Given the description of an element on the screen output the (x, y) to click on. 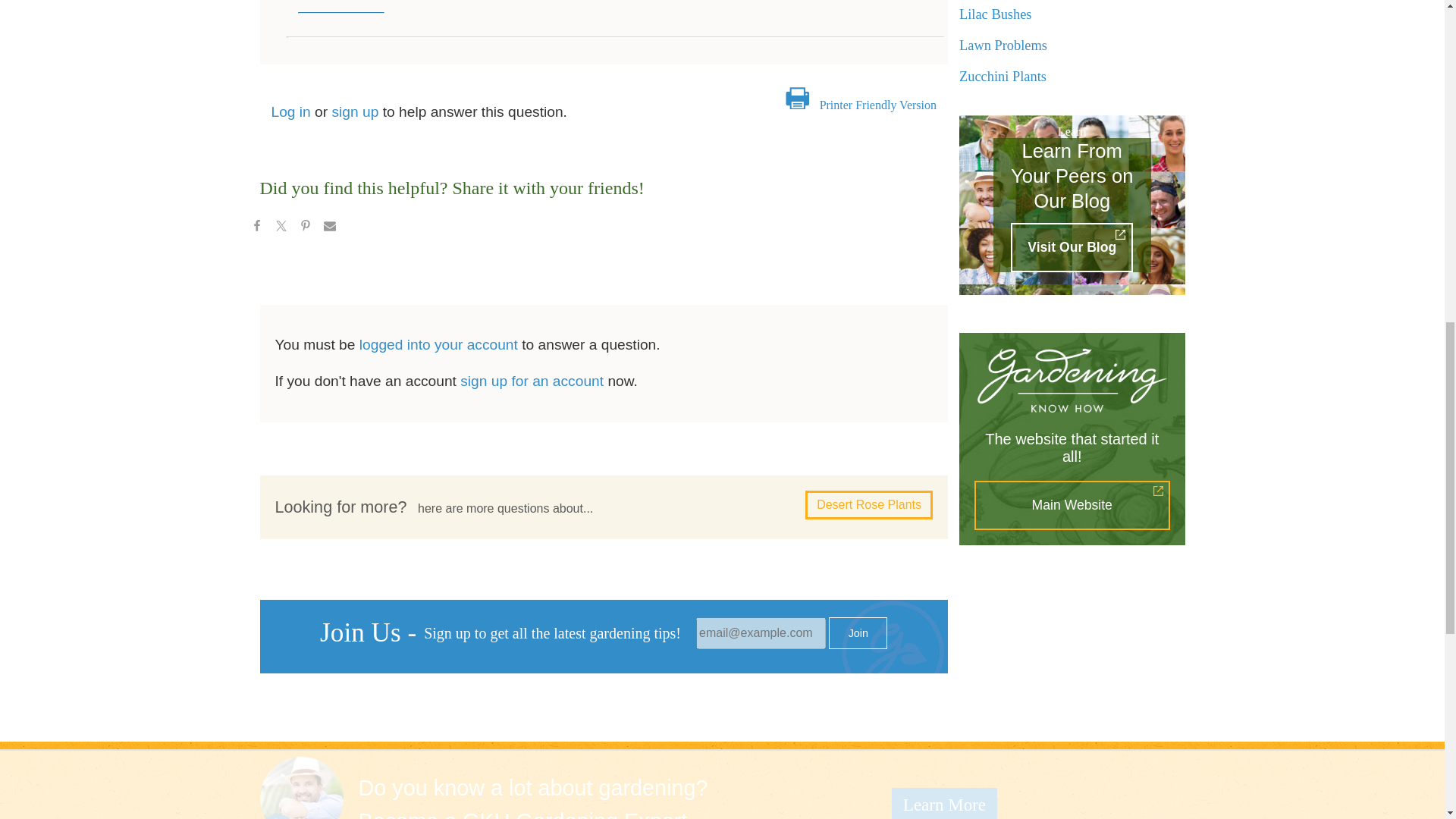
Log in (290, 111)
Share via Email (328, 228)
Desert Rose Plants (869, 504)
sign up (354, 111)
Printer Friendly Version (877, 104)
Share on Pinterest (304, 228)
logged into your account (438, 344)
Share on Twitter (279, 228)
sign up for an account (532, 381)
Share on Facebook (255, 228)
Printer Friendly Version (877, 104)
Join (857, 633)
